Given the description of an element on the screen output the (x, y) to click on. 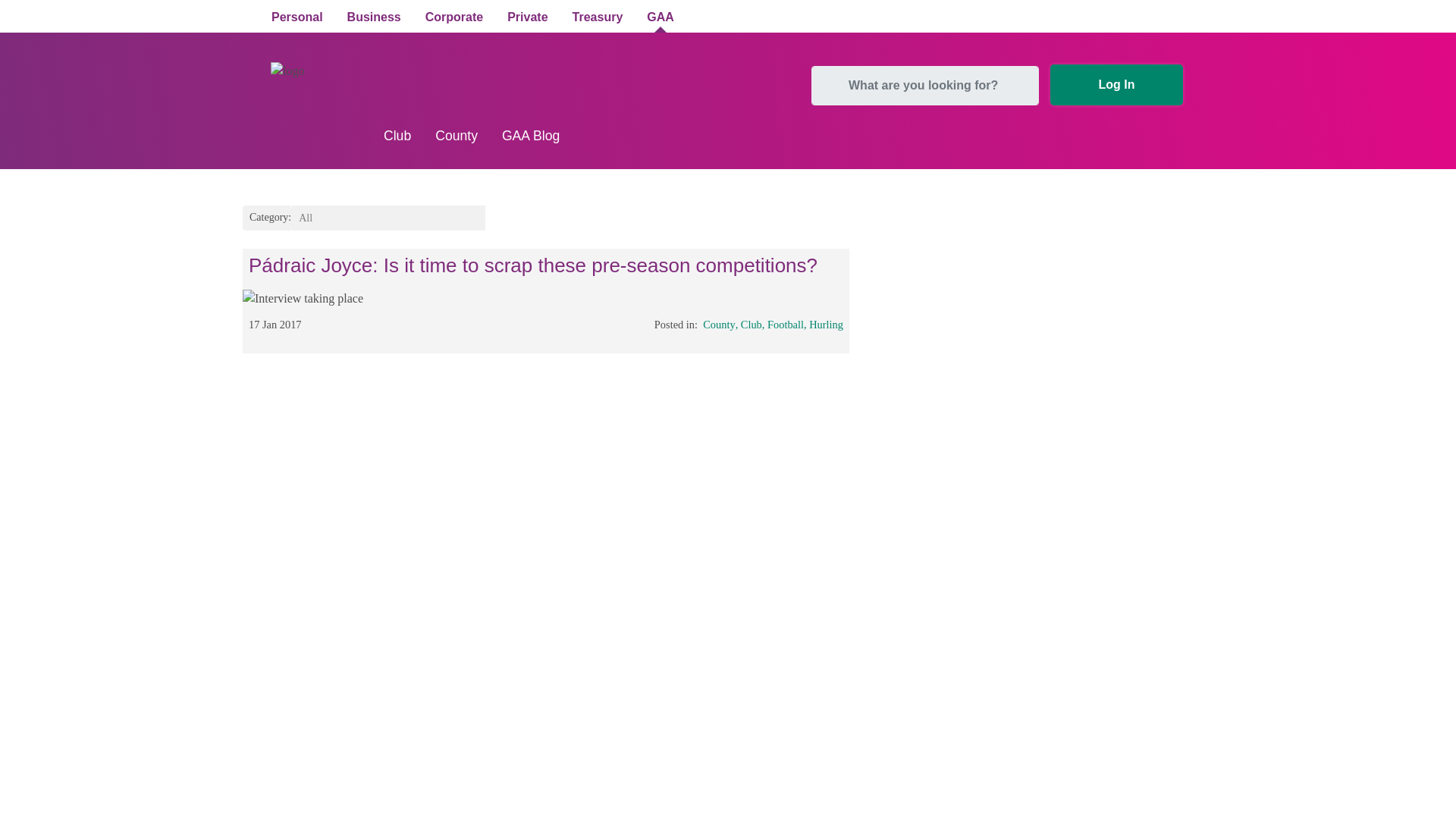
Club (751, 324)
GAA (659, 18)
Pre-season competitions (302, 298)
Corporate (454, 18)
Football (785, 324)
Private (527, 18)
Personal (296, 18)
Business (373, 18)
County (719, 324)
Hurling (826, 324)
